Given the description of an element on the screen output the (x, y) to click on. 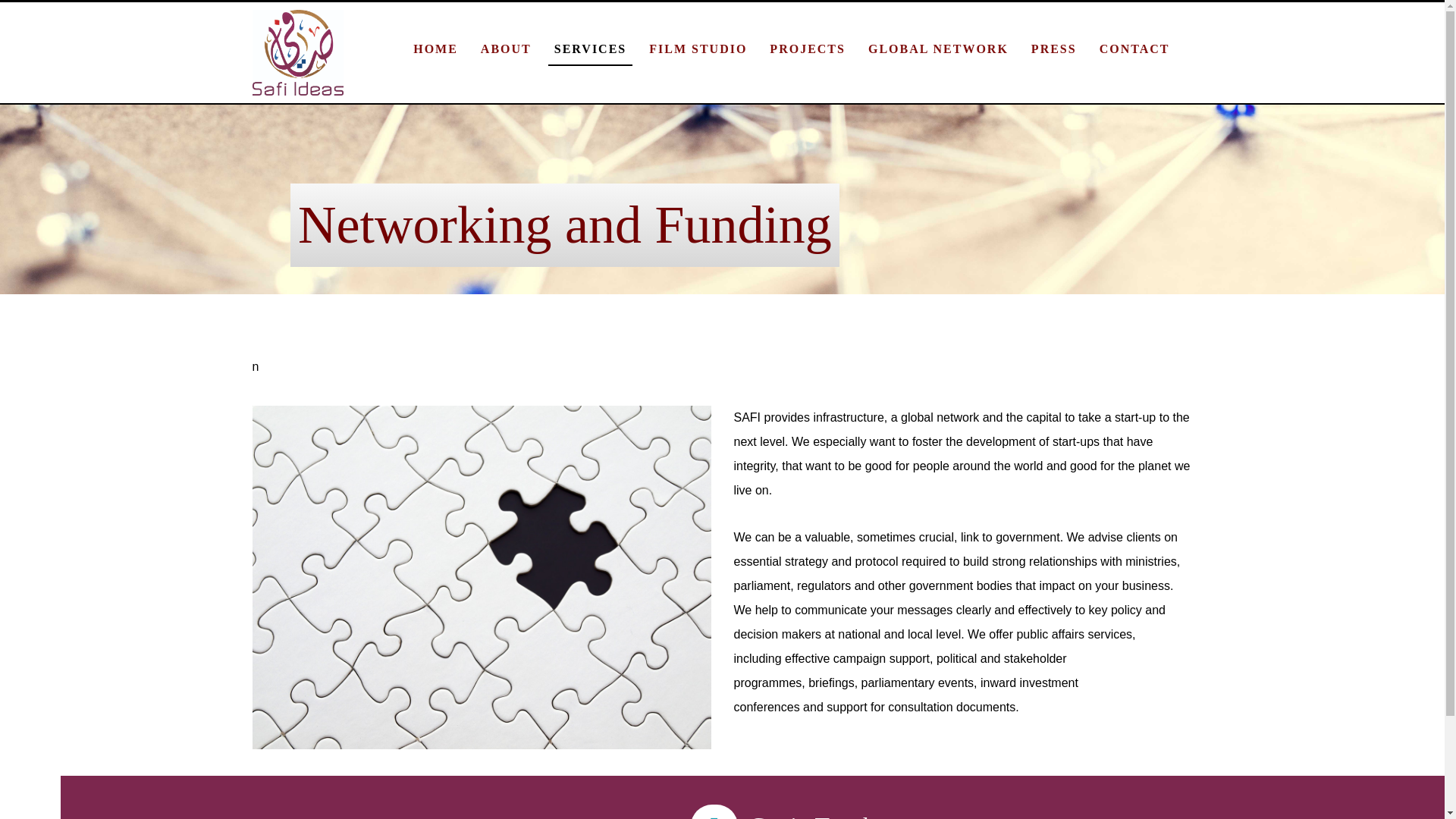
Creative  (296, 52)
SERVICES (590, 49)
GLOBAL NETWORK (938, 49)
HOME (435, 49)
PROJECTS (807, 49)
PRESS (1053, 49)
CONTACT (1134, 49)
ABOUT (505, 49)
FILM STUDIO (697, 49)
